Given the description of an element on the screen output the (x, y) to click on. 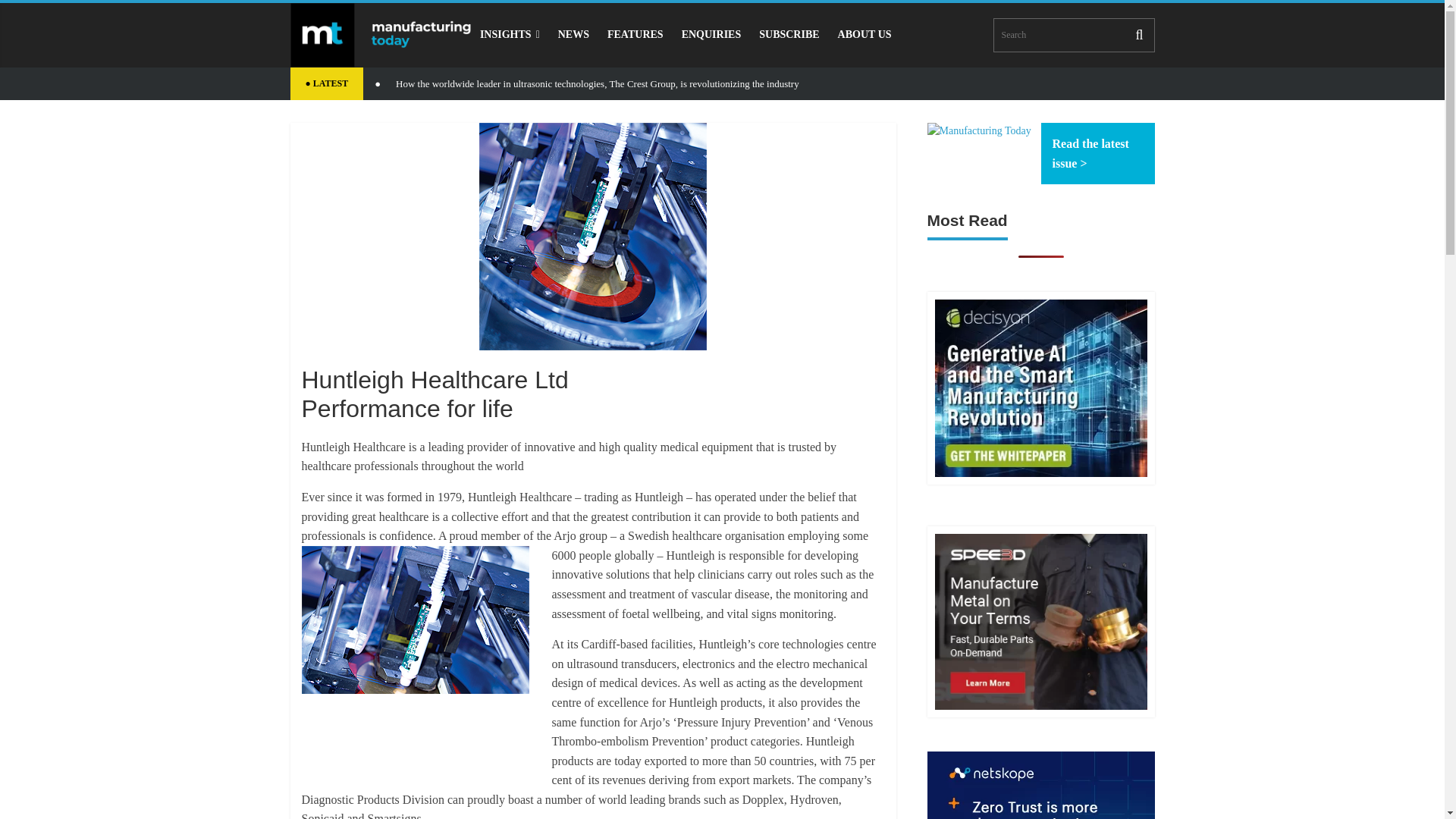
FEATURES (635, 34)
Manufacturing Today (379, 35)
INSIGHTS (509, 34)
Manufacturing Today (978, 130)
ABOUT US (864, 34)
NEWS (573, 34)
SUBSCRIBE (788, 34)
ENQUIRIES (711, 34)
